Given the description of an element on the screen output the (x, y) to click on. 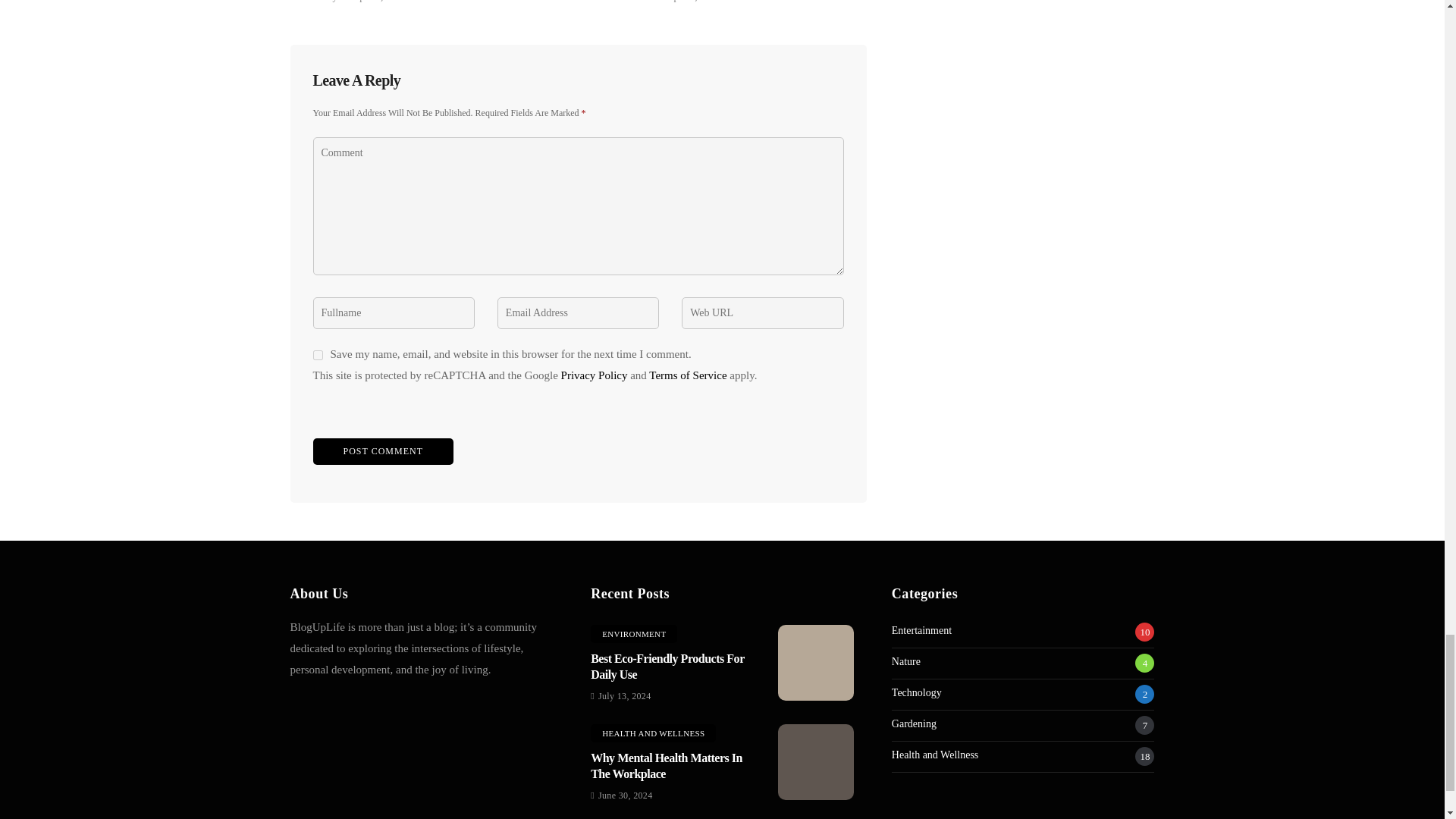
yes (317, 355)
Post Comment (382, 451)
Posts by Briley (325, 2)
Posts by Mr.Writer (632, 2)
